Given the description of an element on the screen output the (x, y) to click on. 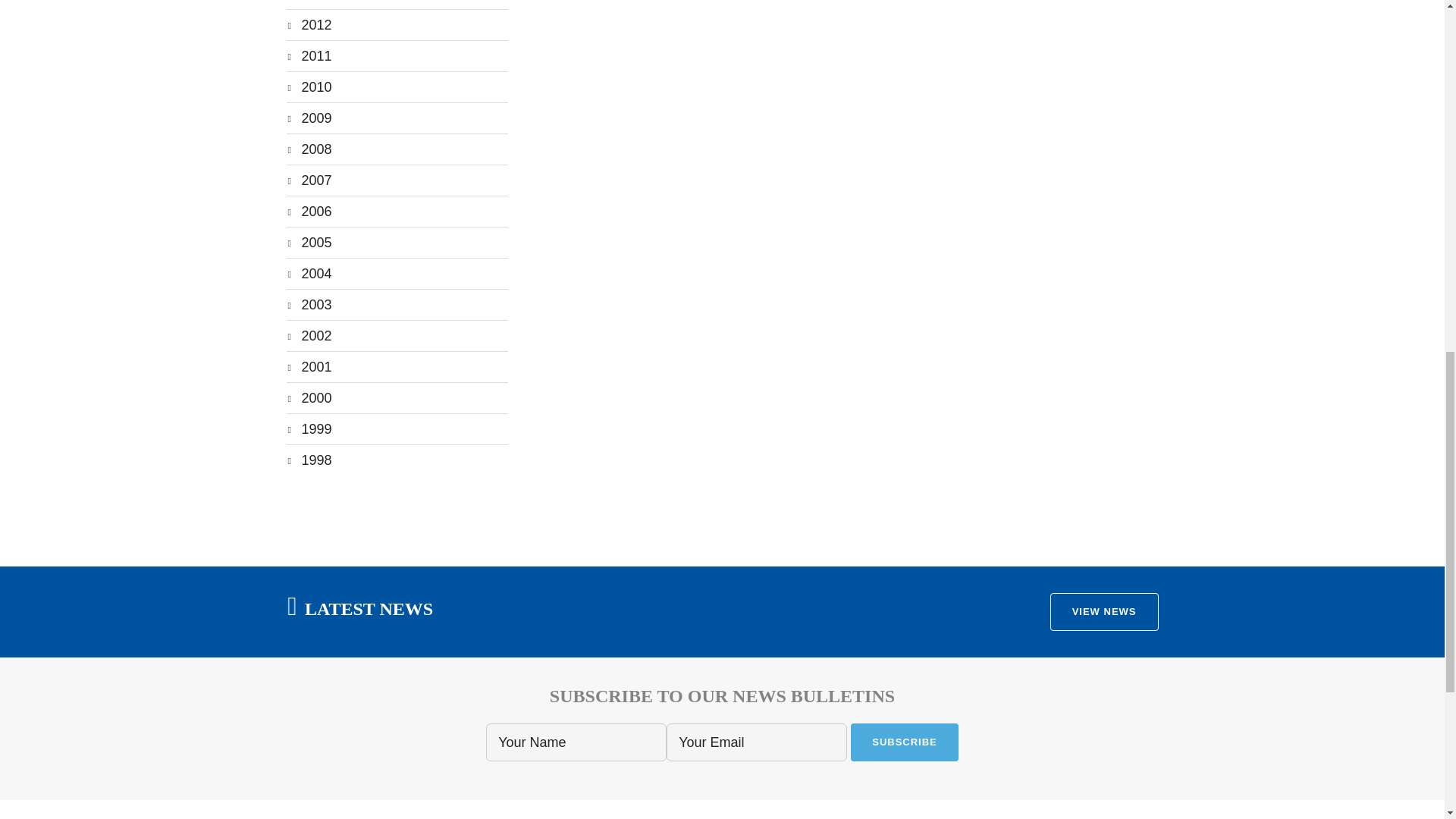
Subscribe (904, 742)
